Given the description of an element on the screen output the (x, y) to click on. 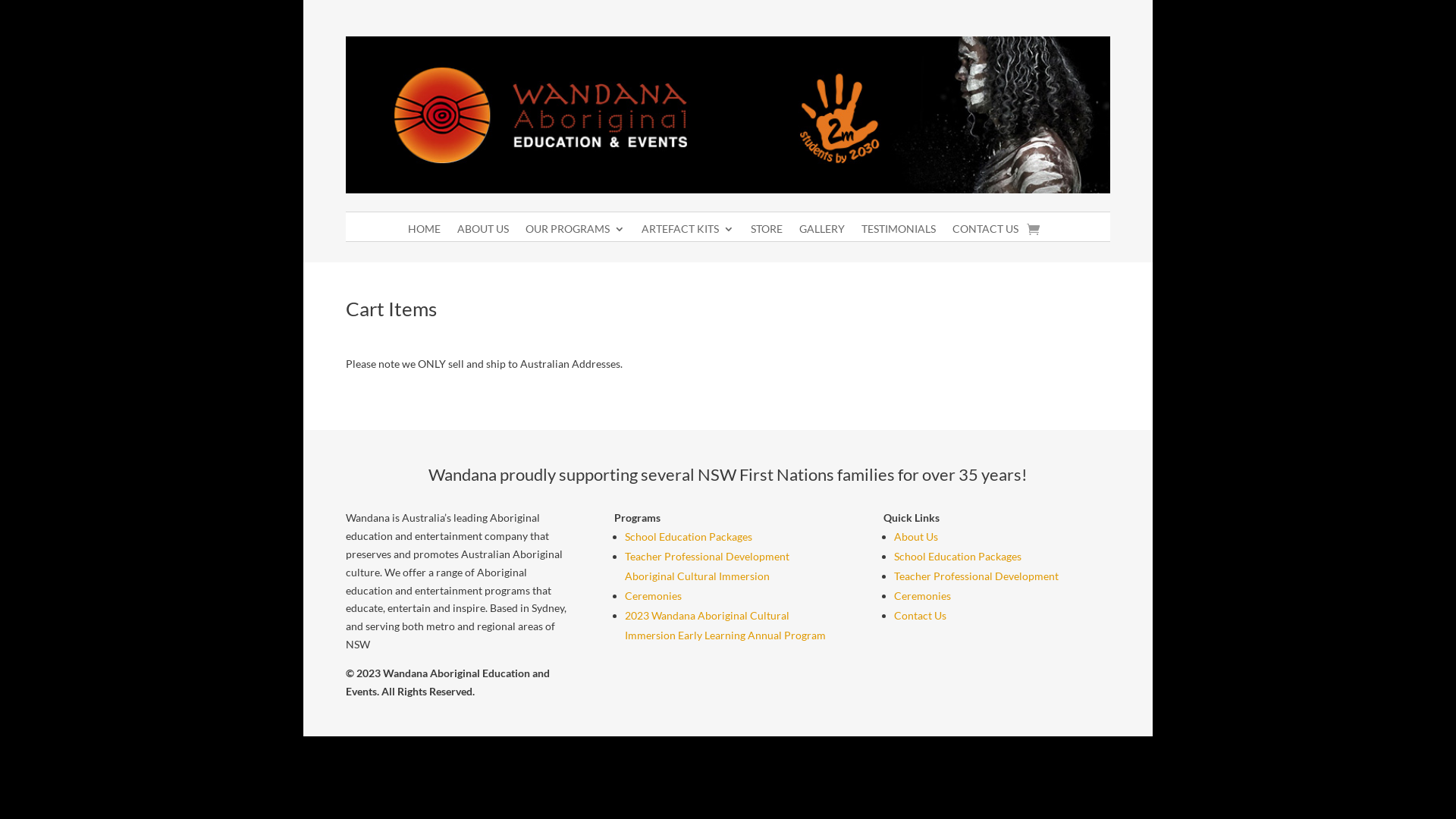
About Us Element type: text (916, 536)
Wandana Australia Element type: hover (727, 114)
ABOUT US Element type: text (482, 231)
School Education Packages Element type: text (957, 555)
School Education Packages Element type: text (688, 536)
Contact Us Element type: text (920, 614)
STORE Element type: text (766, 231)
GALLERY Element type: text (821, 231)
Teacher Professional Development Element type: text (976, 575)
HOME Element type: text (423, 231)
Ceremonies Element type: text (652, 595)
TESTIMONIALS Element type: text (898, 231)
CONTACT US Element type: text (985, 231)
ARTEFACT KITS Element type: text (687, 231)
Ceremonies Element type: text (922, 595)
OUR PROGRAMS Element type: text (574, 231)
